Given the description of an element on the screen output the (x, y) to click on. 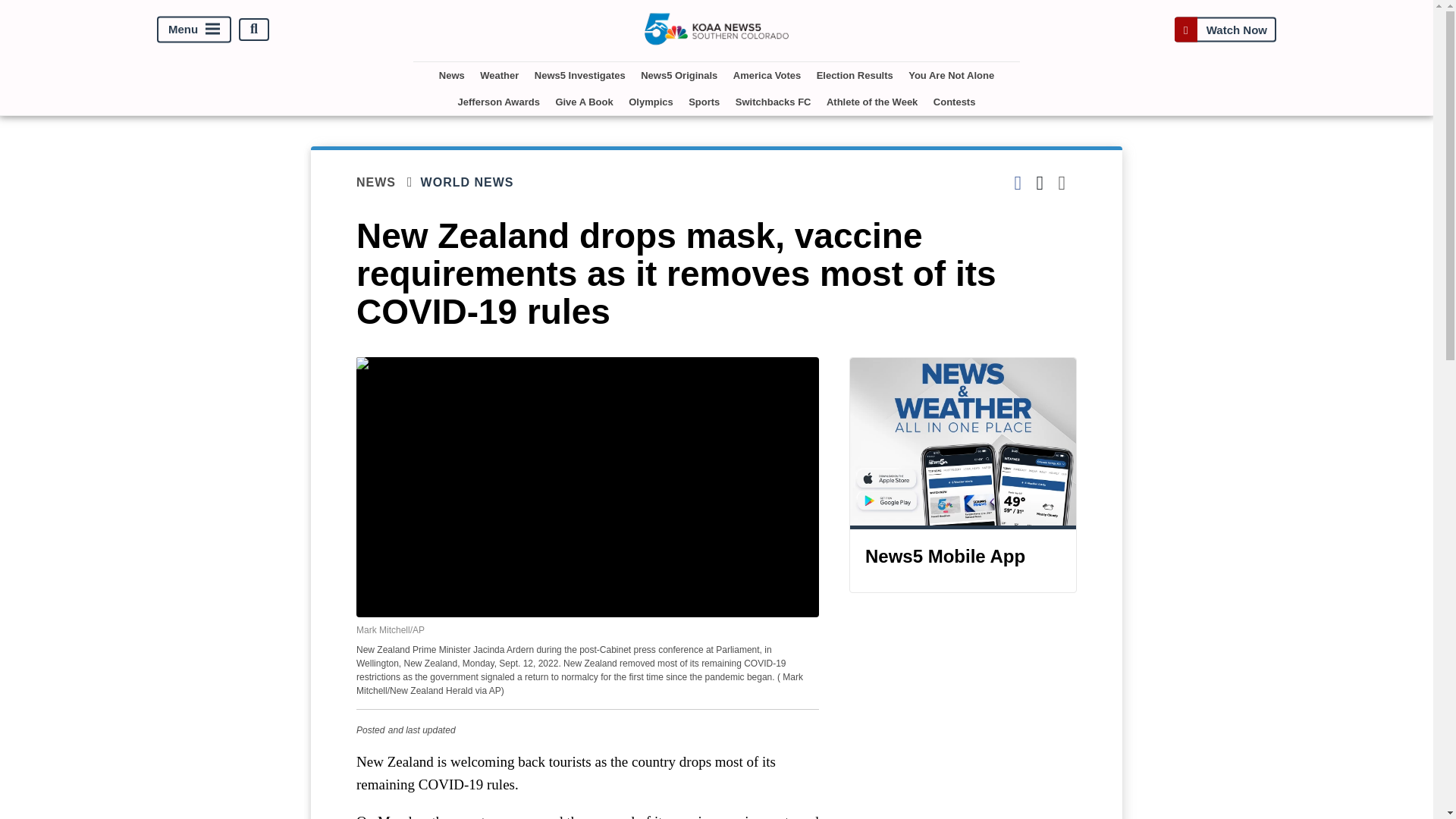
Watch Now (1224, 29)
Menu (194, 28)
